Given the description of an element on the screen output the (x, y) to click on. 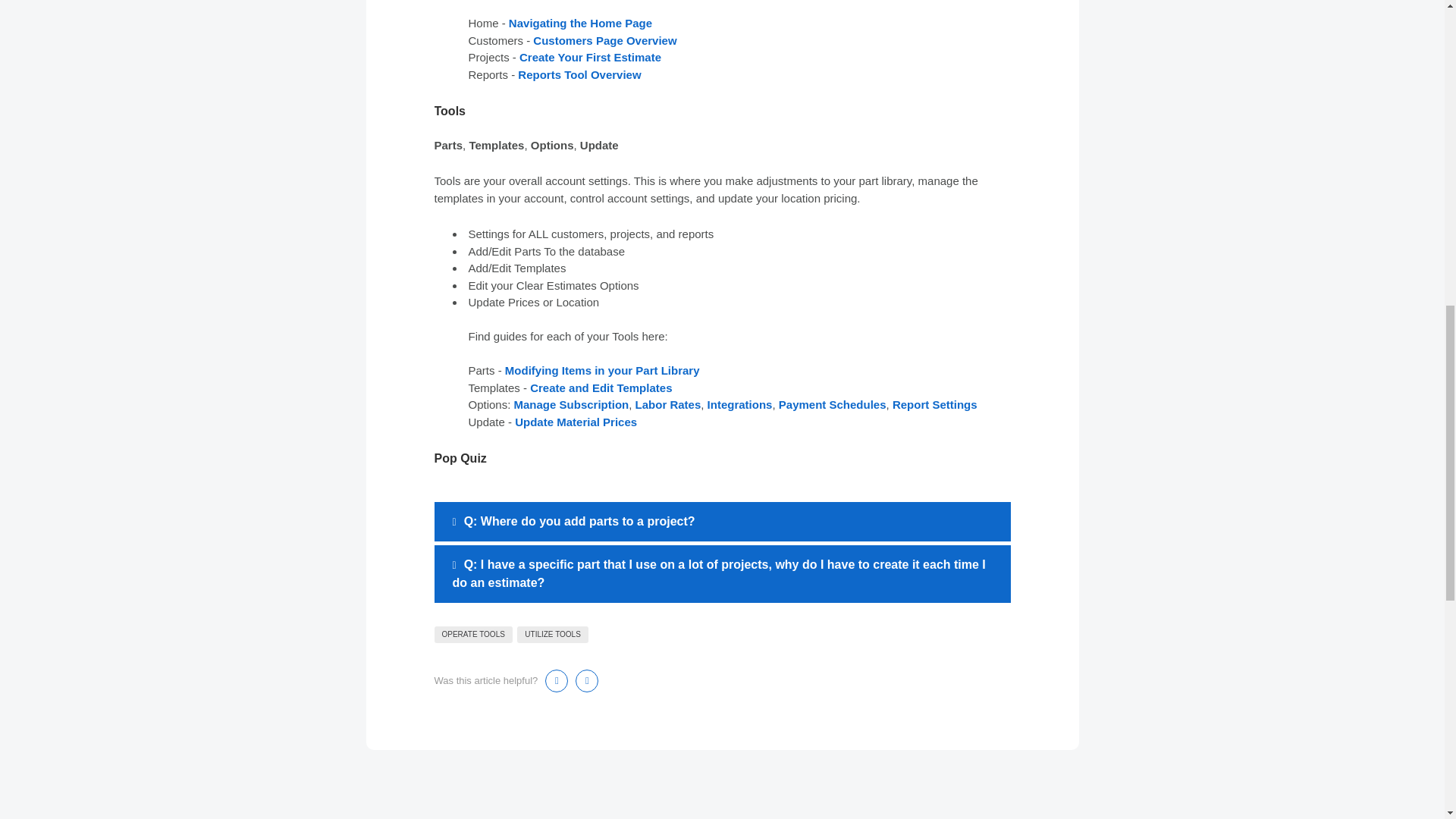
OPERATE TOOLS (472, 634)
Report Settings (934, 404)
Manage Subscription (570, 404)
Integrations (740, 404)
Payment Schedules (832, 404)
Update Material Prices (576, 421)
Create Your First Estimate  (591, 56)
Reports Tool Overview (579, 74)
UTILIZE TOOLS (552, 634)
Navigating the Home Page (580, 22)
